Given the description of an element on the screen output the (x, y) to click on. 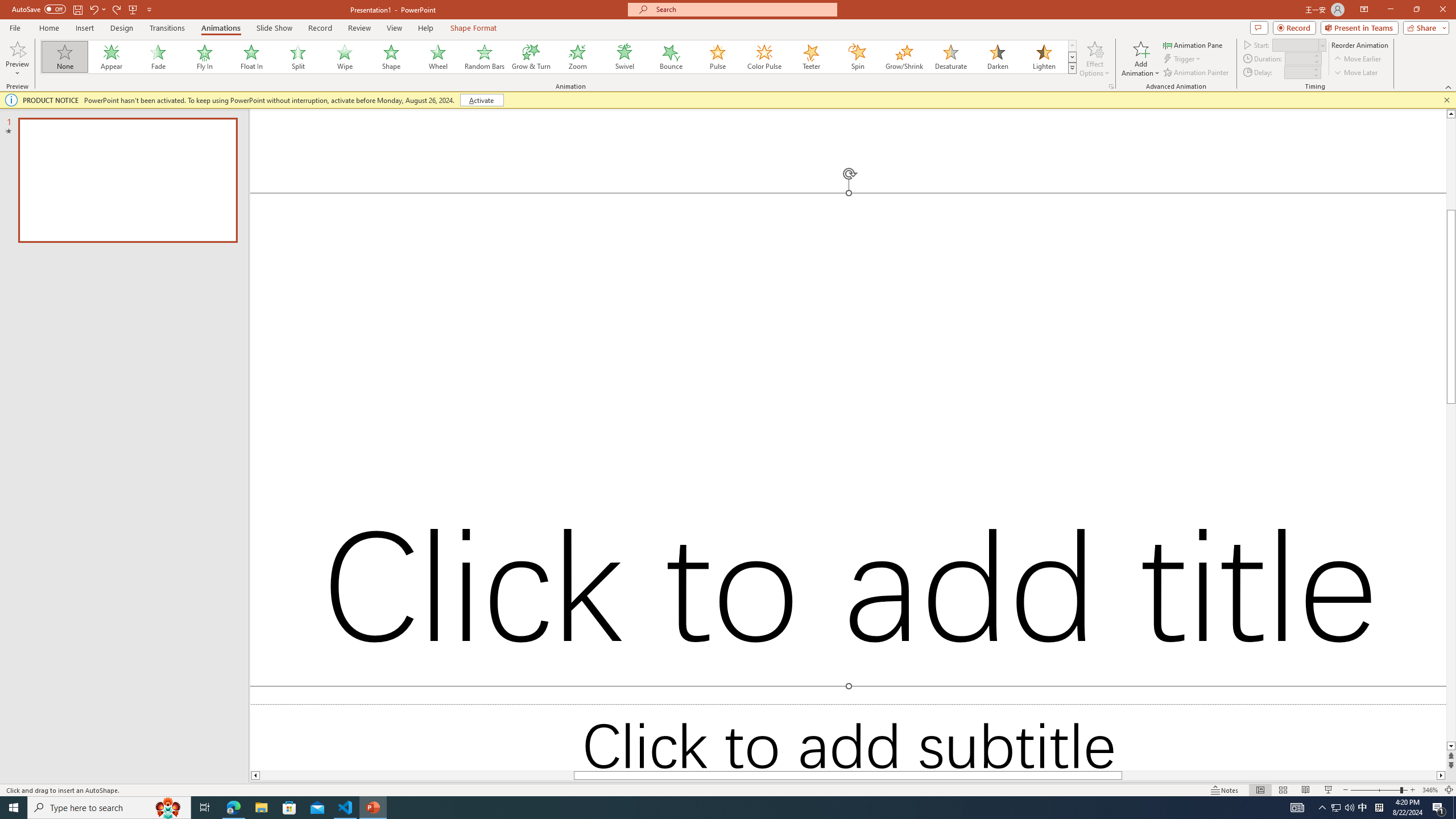
Trigger (1182, 58)
Move Earlier (1357, 58)
Effect Options (1094, 58)
Zoom 346% (1430, 790)
Wheel (437, 56)
None (65, 56)
